Given the description of an element on the screen output the (x, y) to click on. 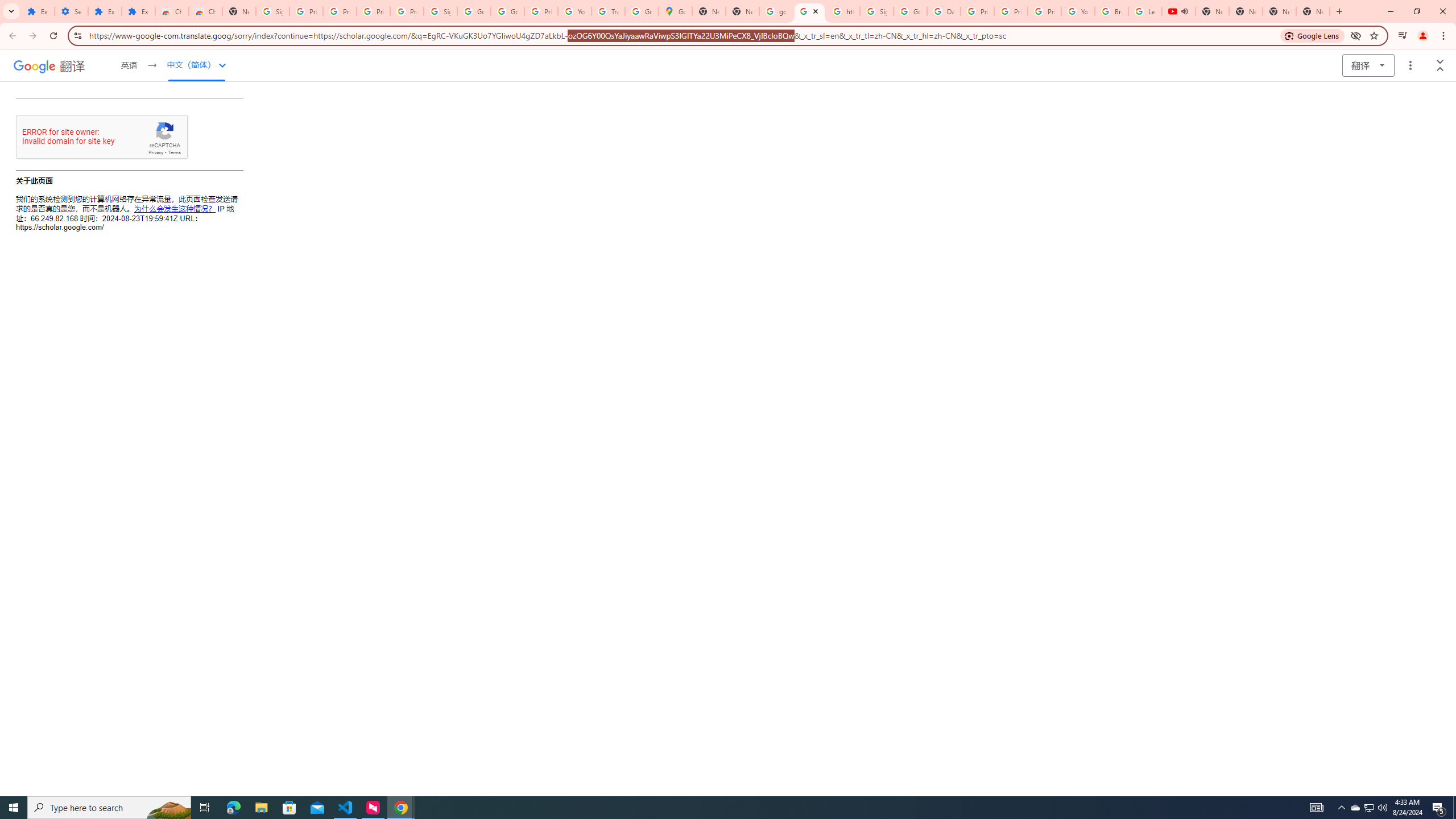
Search with Google Lens (1311, 35)
Chrome Web Store (171, 11)
